Given the description of an element on the screen output the (x, y) to click on. 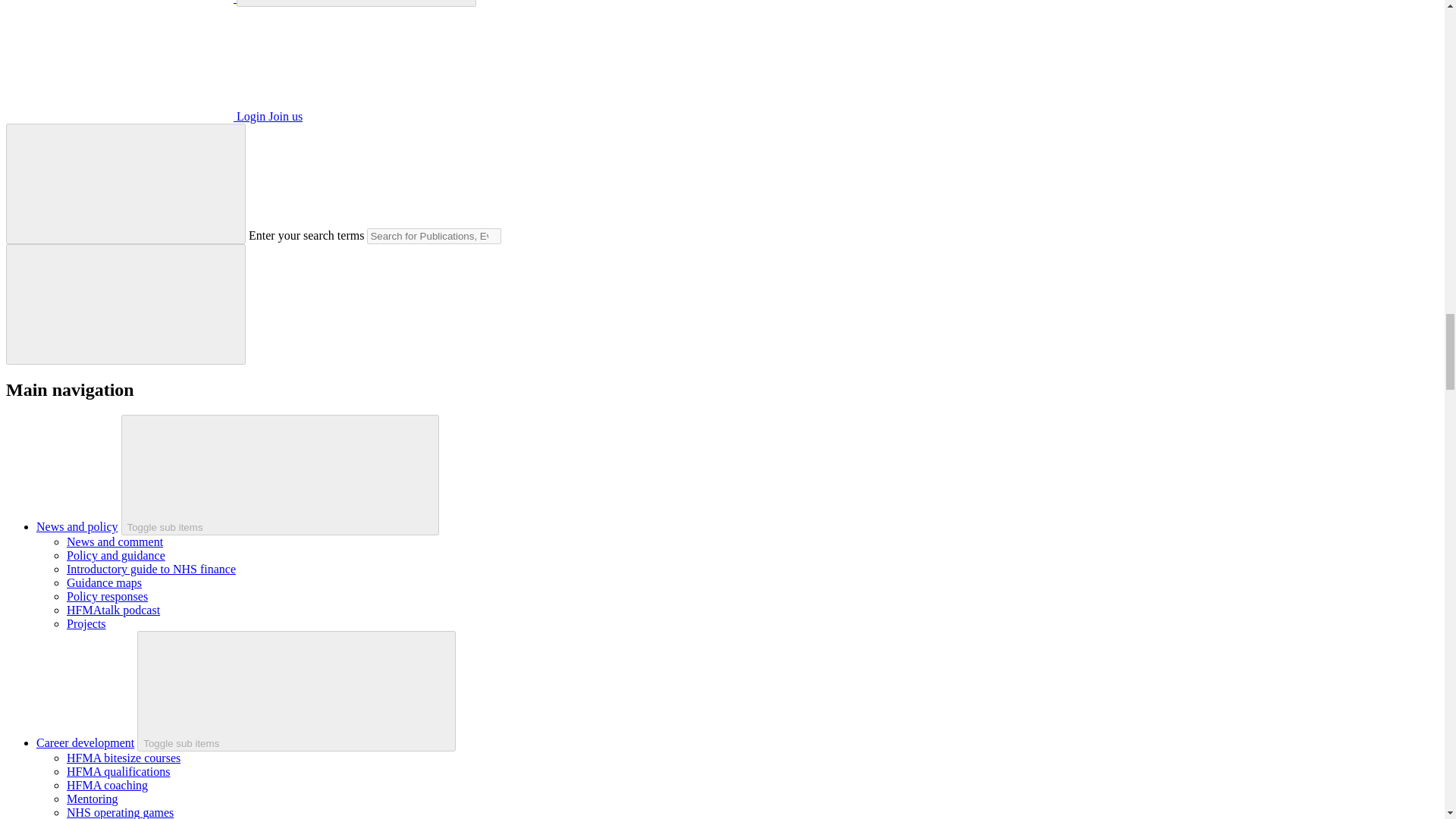
Return to the homepage (120, 2)
Enter your search terms (433, 236)
